Given the description of an element on the screen output the (x, y) to click on. 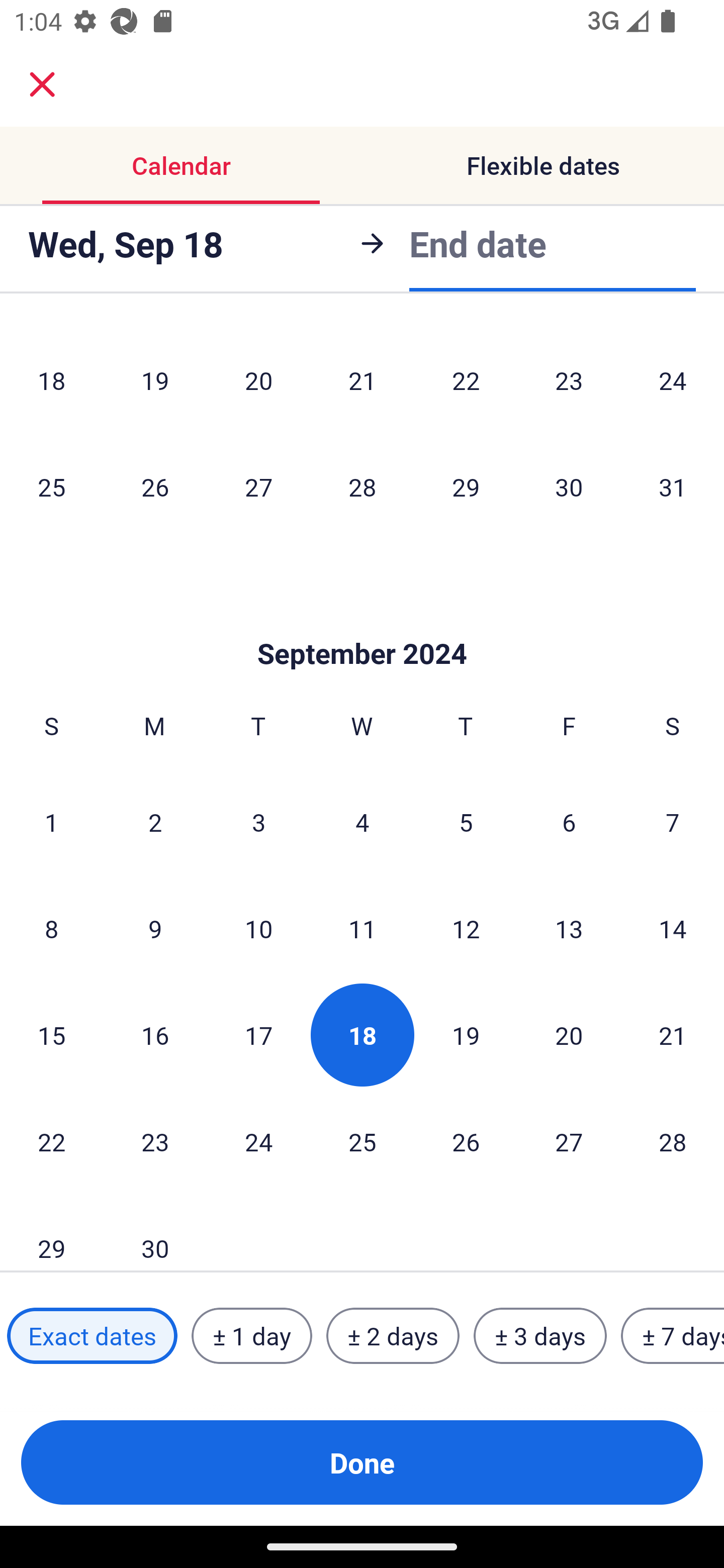
close. (42, 84)
Flexible dates (542, 164)
18 Sunday, August 18, 2024 (51, 380)
19 Monday, August 19, 2024 (155, 380)
20 Tuesday, August 20, 2024 (258, 380)
21 Wednesday, August 21, 2024 (362, 380)
22 Thursday, August 22, 2024 (465, 380)
23 Friday, August 23, 2024 (569, 380)
24 Saturday, August 24, 2024 (672, 380)
25 Sunday, August 25, 2024 (51, 486)
26 Monday, August 26, 2024 (155, 486)
27 Tuesday, August 27, 2024 (258, 486)
28 Wednesday, August 28, 2024 (362, 486)
29 Thursday, August 29, 2024 (465, 486)
30 Friday, August 30, 2024 (569, 486)
31 Saturday, August 31, 2024 (672, 486)
Skip to Done (362, 623)
1 Sunday, September 1, 2024 (51, 821)
2 Monday, September 2, 2024 (155, 821)
3 Tuesday, September 3, 2024 (258, 821)
4 Wednesday, September 4, 2024 (362, 821)
5 Thursday, September 5, 2024 (465, 821)
6 Friday, September 6, 2024 (569, 821)
7 Saturday, September 7, 2024 (672, 821)
8 Sunday, September 8, 2024 (51, 928)
9 Monday, September 9, 2024 (155, 928)
10 Tuesday, September 10, 2024 (258, 928)
11 Wednesday, September 11, 2024 (362, 928)
12 Thursday, September 12, 2024 (465, 928)
13 Friday, September 13, 2024 (569, 928)
14 Saturday, September 14, 2024 (672, 928)
15 Sunday, September 15, 2024 (51, 1034)
16 Monday, September 16, 2024 (155, 1034)
17 Tuesday, September 17, 2024 (258, 1034)
19 Thursday, September 19, 2024 (465, 1034)
20 Friday, September 20, 2024 (569, 1034)
21 Saturday, September 21, 2024 (672, 1034)
22 Sunday, September 22, 2024 (51, 1141)
23 Monday, September 23, 2024 (155, 1141)
24 Tuesday, September 24, 2024 (258, 1141)
25 Wednesday, September 25, 2024 (362, 1141)
26 Thursday, September 26, 2024 (465, 1141)
27 Friday, September 27, 2024 (569, 1141)
28 Saturday, September 28, 2024 (672, 1141)
29 Sunday, September 29, 2024 (51, 1233)
30 Monday, September 30, 2024 (155, 1233)
Exact dates (92, 1335)
± 1 day (251, 1335)
± 2 days (392, 1335)
± 3 days (539, 1335)
± 7 days (672, 1335)
Done (361, 1462)
